Given the description of an element on the screen output the (x, y) to click on. 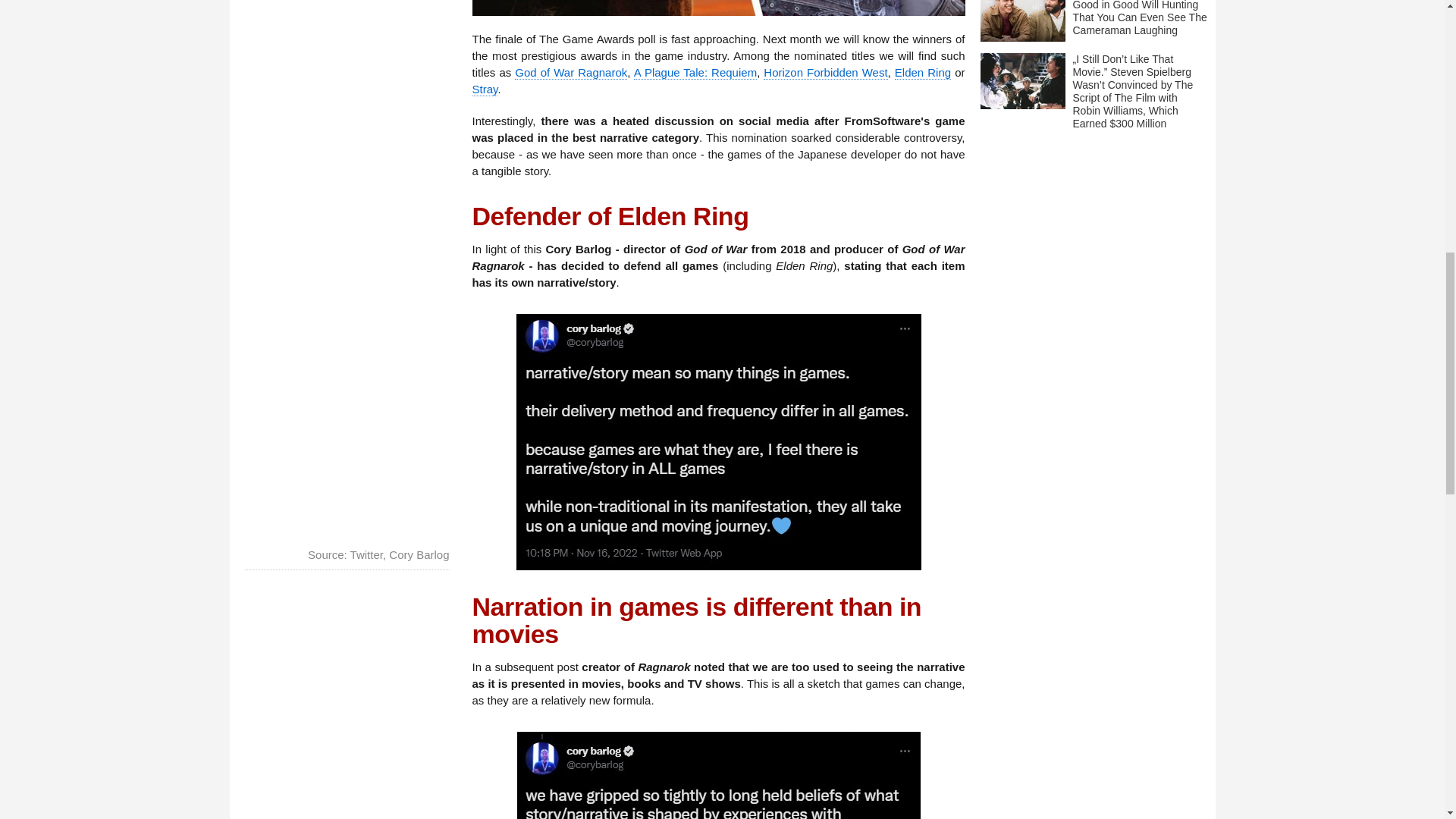
Elden Ring (922, 72)
Stray (484, 89)
A Plague Tale: Requiem (695, 72)
God of War Ragnarok (571, 72)
Horizon Forbidden West (824, 72)
